Given the description of an element on the screen output the (x, y) to click on. 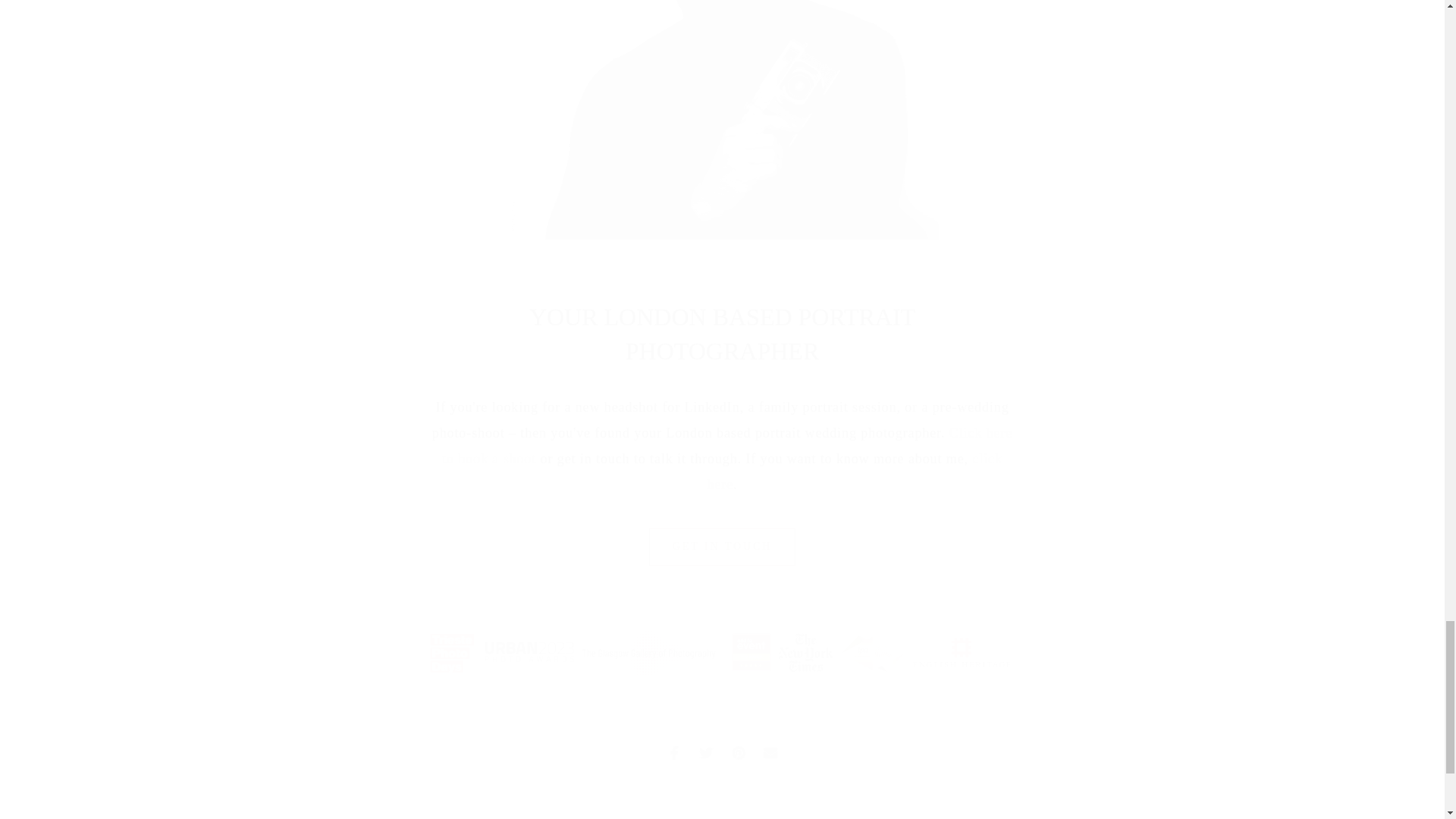
Click here to book a shoot (729, 445)
click here (856, 471)
GET IN TOUCH (722, 546)
